Given the description of an element on the screen output the (x, y) to click on. 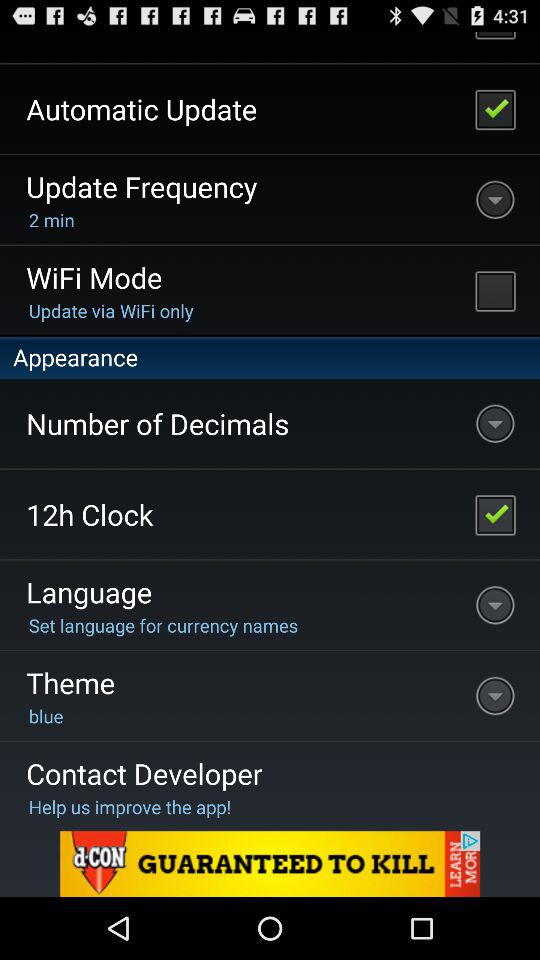
toggle wifi mode (495, 290)
